Given the description of an element on the screen output the (x, y) to click on. 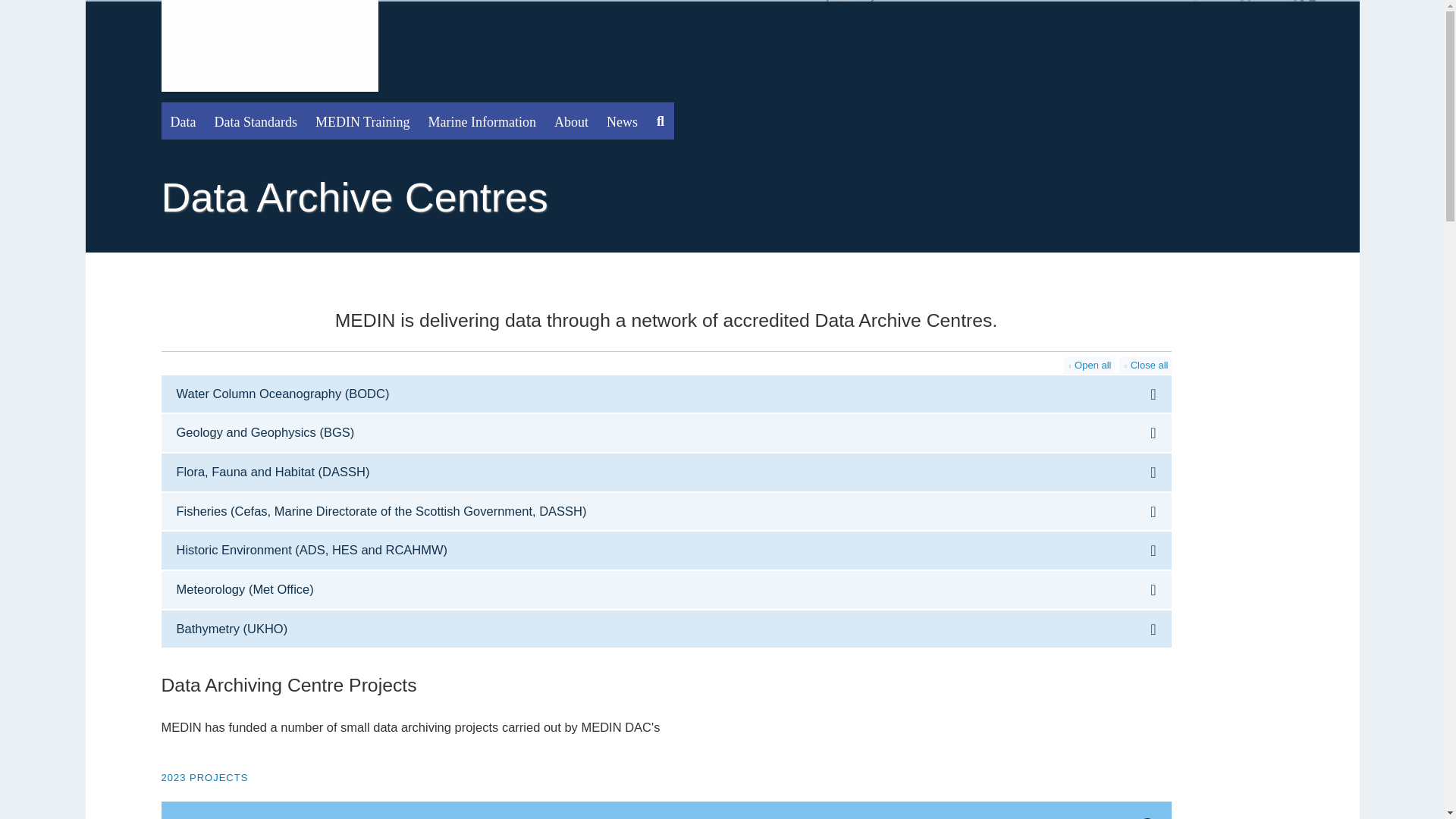
Data Standards (255, 120)
Data (182, 120)
Marine Information (481, 120)
Close all (1144, 365)
About (570, 120)
Open all (1089, 365)
MEDIN Training (362, 120)
News (621, 120)
